Given the description of an element on the screen output the (x, y) to click on. 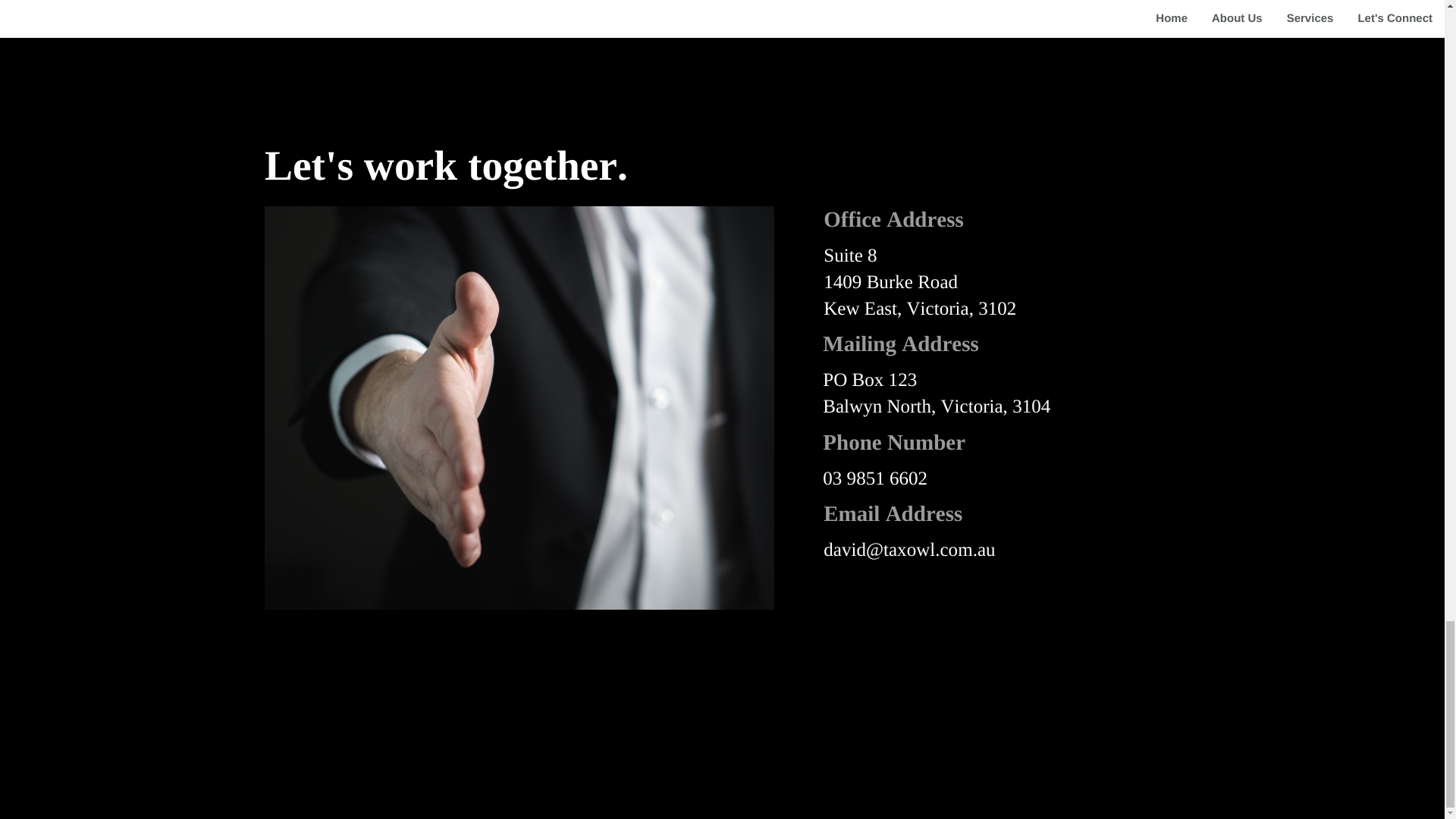
03 9851 6602 (874, 478)
